Given the description of an element on the screen output the (x, y) to click on. 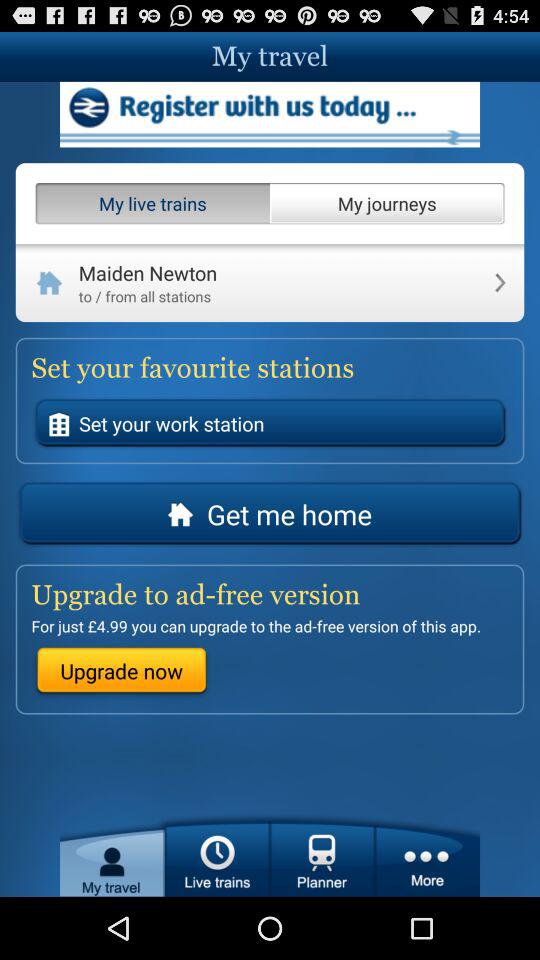
register quick link for sign up (270, 114)
